Given the description of an element on the screen output the (x, y) to click on. 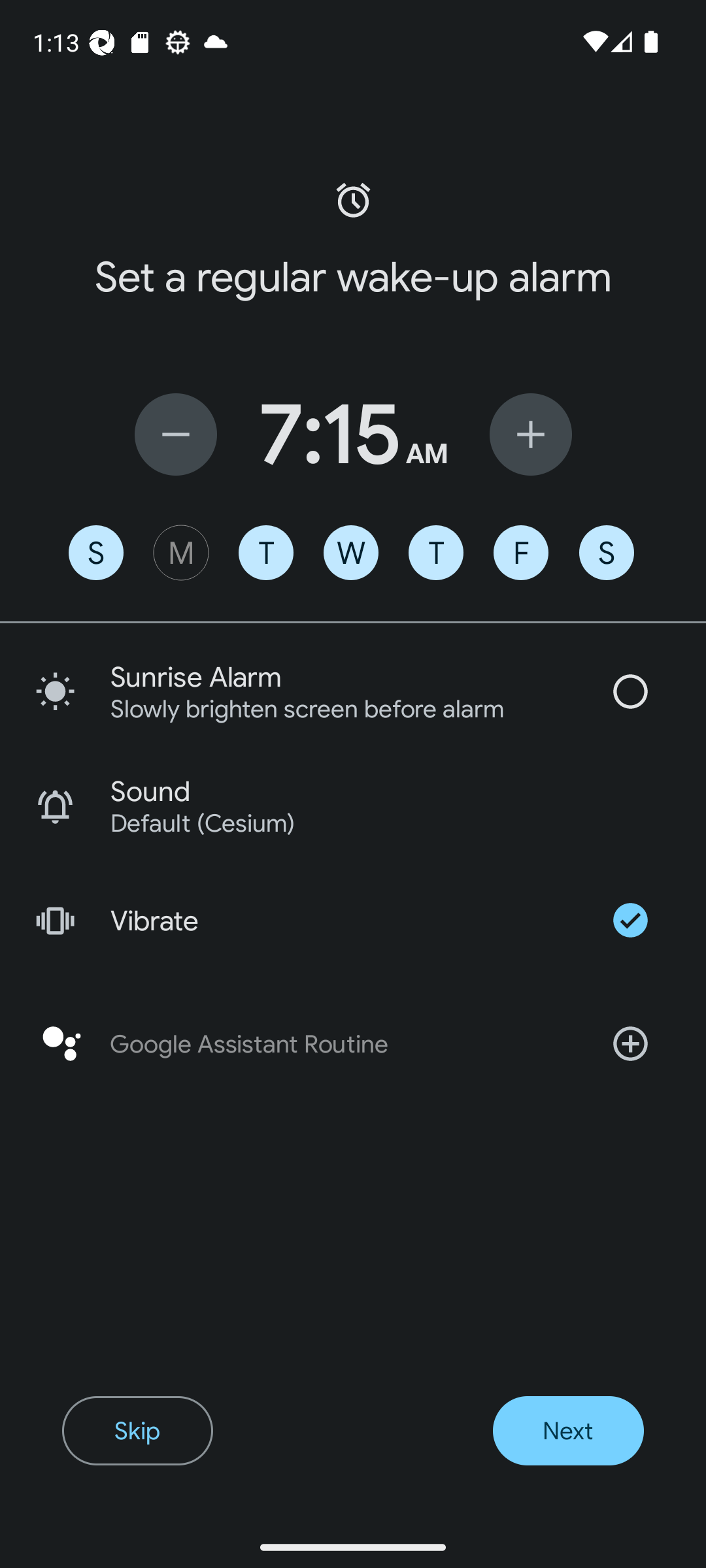
7:15 AM Wake-up 7:15 AM (353, 434)
Fifteen minutes earlier (175, 434)
Fifteen minutes later (530, 434)
S Sunday (95, 552)
M Monday (180, 552)
T Tuesday (266, 552)
W Wednesday (350, 552)
T Thursday (435, 552)
F Friday (520, 552)
S Saturday (606, 552)
Sunrise Alarm Slowly brighten screen before alarm (353, 691)
Sound Default (Cesium) Ringtone Default (Cesium) (353, 805)
Vibrate (353, 920)
Google Assistant Routine (353, 1044)
Skip (137, 1430)
Next (567, 1430)
